Given the description of an element on the screen output the (x, y) to click on. 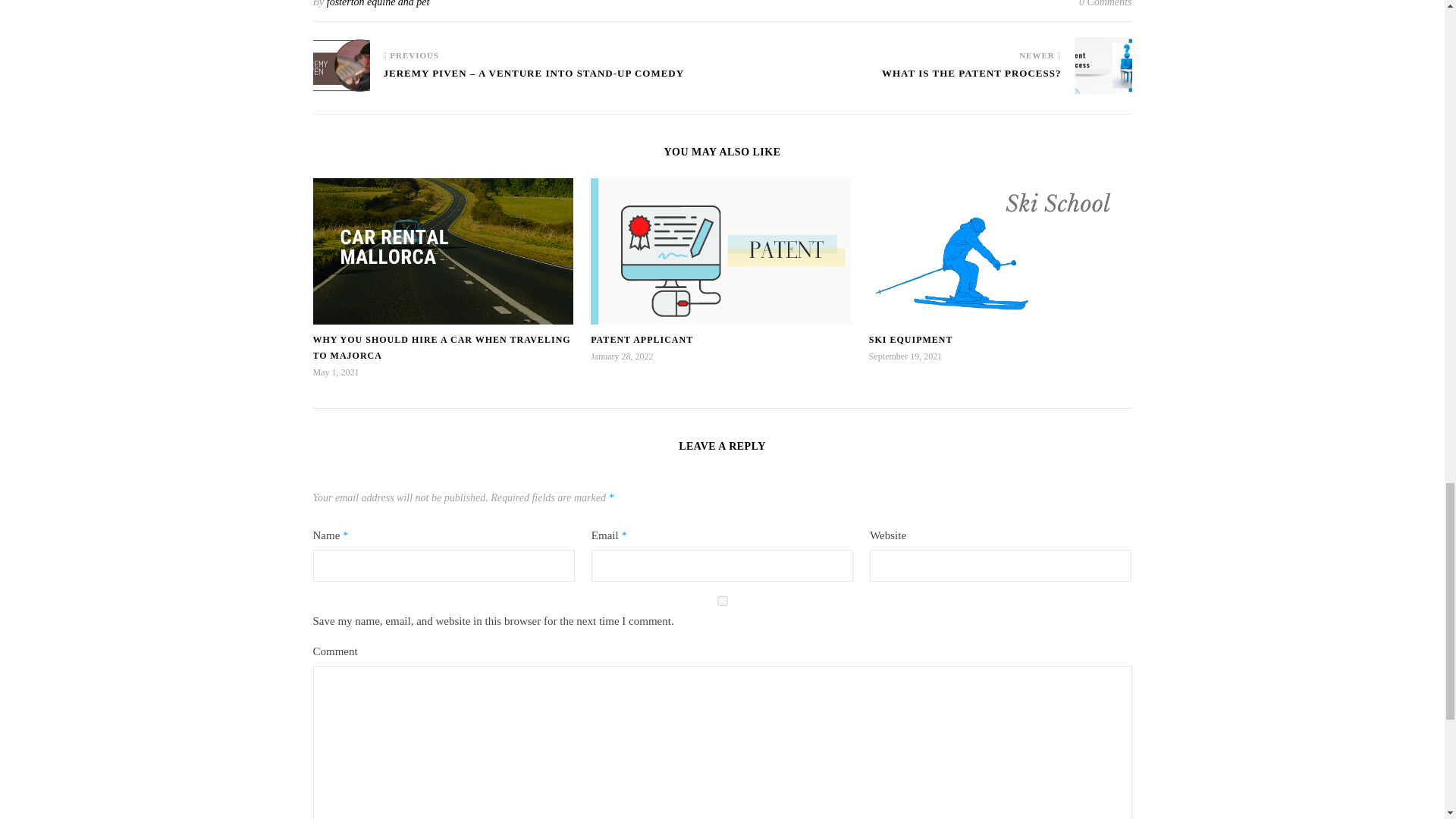
WHAT IS THE PATENT PROCESS? (971, 80)
Posts by fosterton equine and pet (377, 3)
fosterton equine and pet (377, 3)
0 Comments (1105, 6)
What Is the Patent Process? (1103, 65)
WHY YOU SHOULD HIRE A CAR WHEN TRAVELING TO MAJORCA (441, 347)
What Is the Patent Process? (971, 80)
PATENT APPLICANT (642, 339)
yes (722, 601)
SKI EQUIPMENT (911, 339)
